Given the description of an element on the screen output the (x, y) to click on. 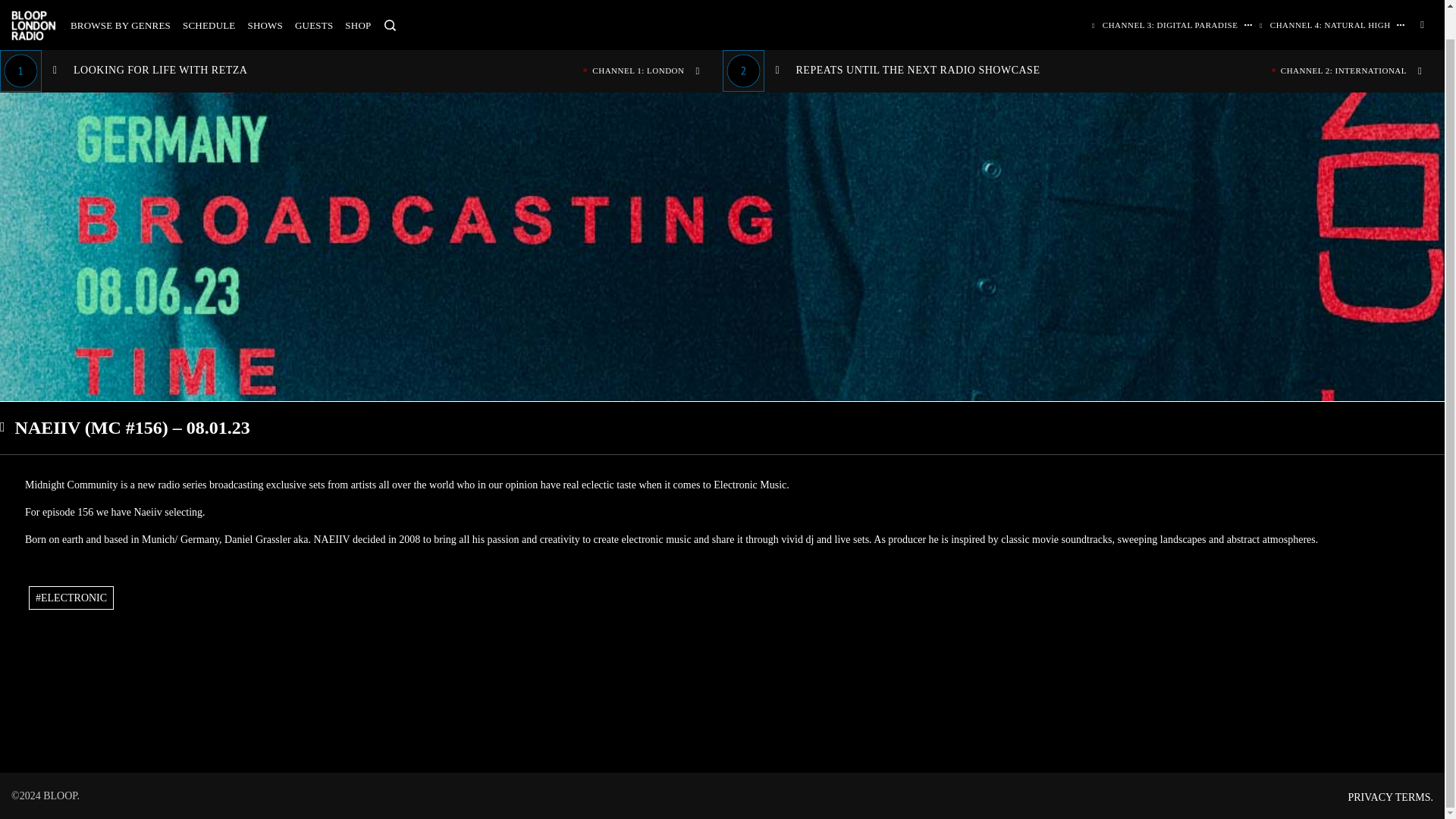
PRIVACY TERMS. (1390, 797)
GUESTS (313, 0)
SHOP (361, 41)
SCHEDULE (358, 0)
SHOWS (208, 0)
BROWSE BY GENRES (265, 0)
